Given the description of an element on the screen output the (x, y) to click on. 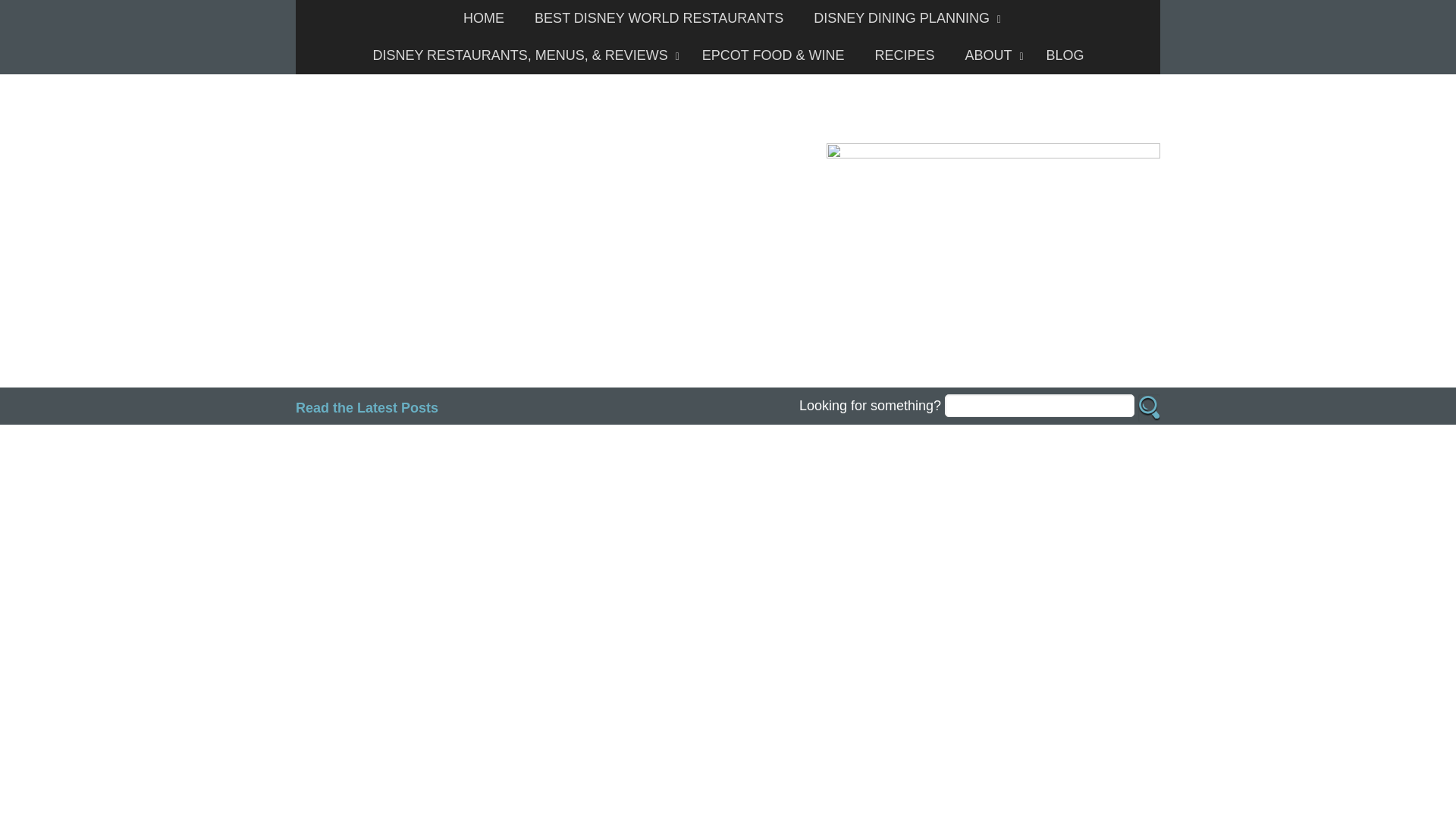
DISNEY DINING PLANNING (903, 18)
HOME (483, 18)
BEST DISNEY WORLD RESTAURANTS (658, 18)
